Given the description of an element on the screen output the (x, y) to click on. 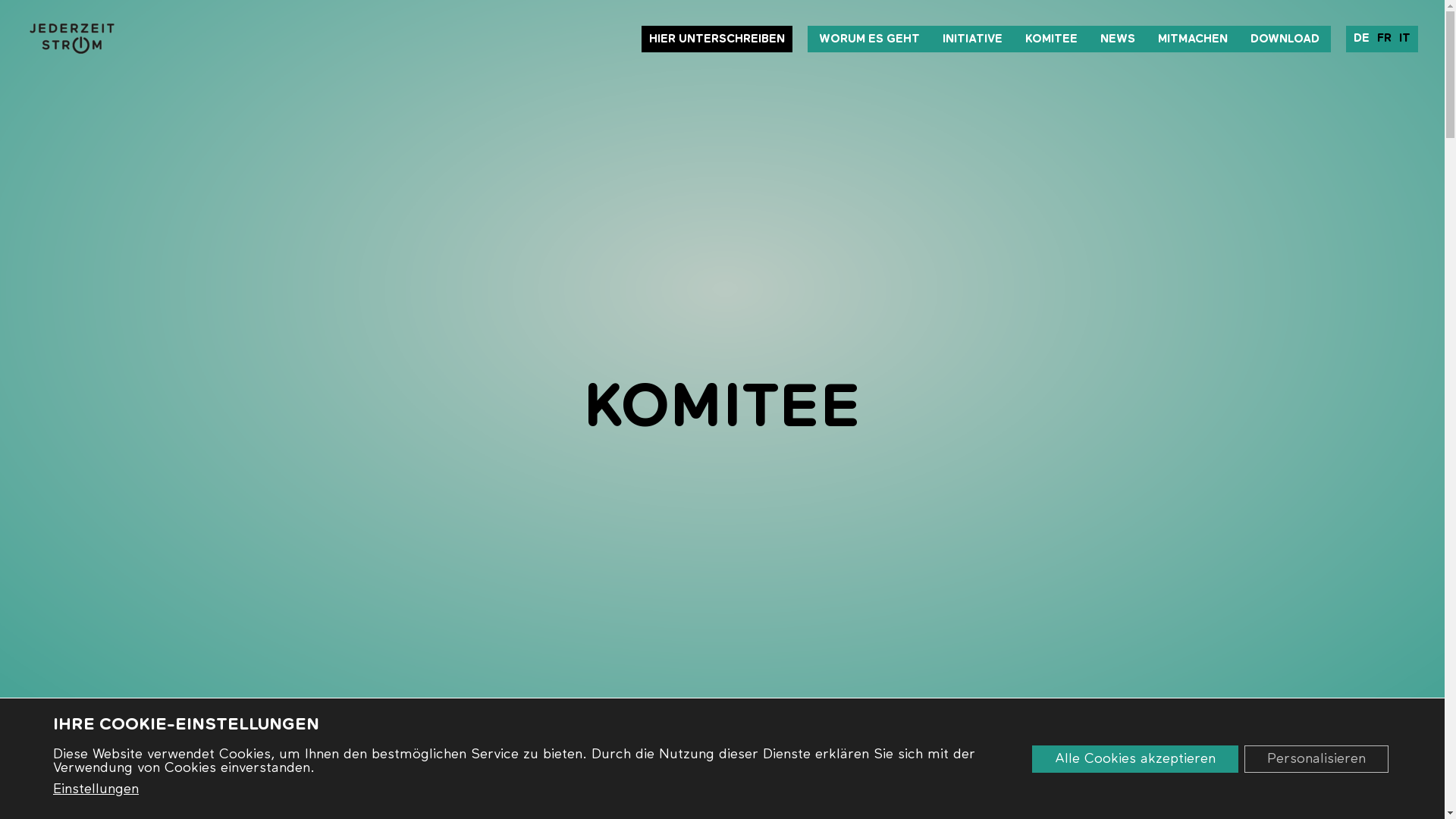
NEWS Element type: text (1117, 38)
FR Element type: text (1384, 38)
MITMACHEN Element type: text (1192, 38)
IT Element type: text (1404, 38)
INITIATIVE Element type: text (972, 38)
DOWNLOAD Element type: text (1284, 38)
HIER UNTERSCHREIBEN Element type: text (716, 38)
DE Element type: text (1361, 38)
Einstellungen Element type: text (95, 789)
Alle Cookies akzeptieren Element type: text (1135, 757)
WORUM ES GEHT Element type: text (869, 38)
Personalisieren Element type: text (1316, 757)
KOMITEE Element type: text (721, 409)
KOMITEE Element type: text (1050, 38)
